Given the description of an element on the screen output the (x, y) to click on. 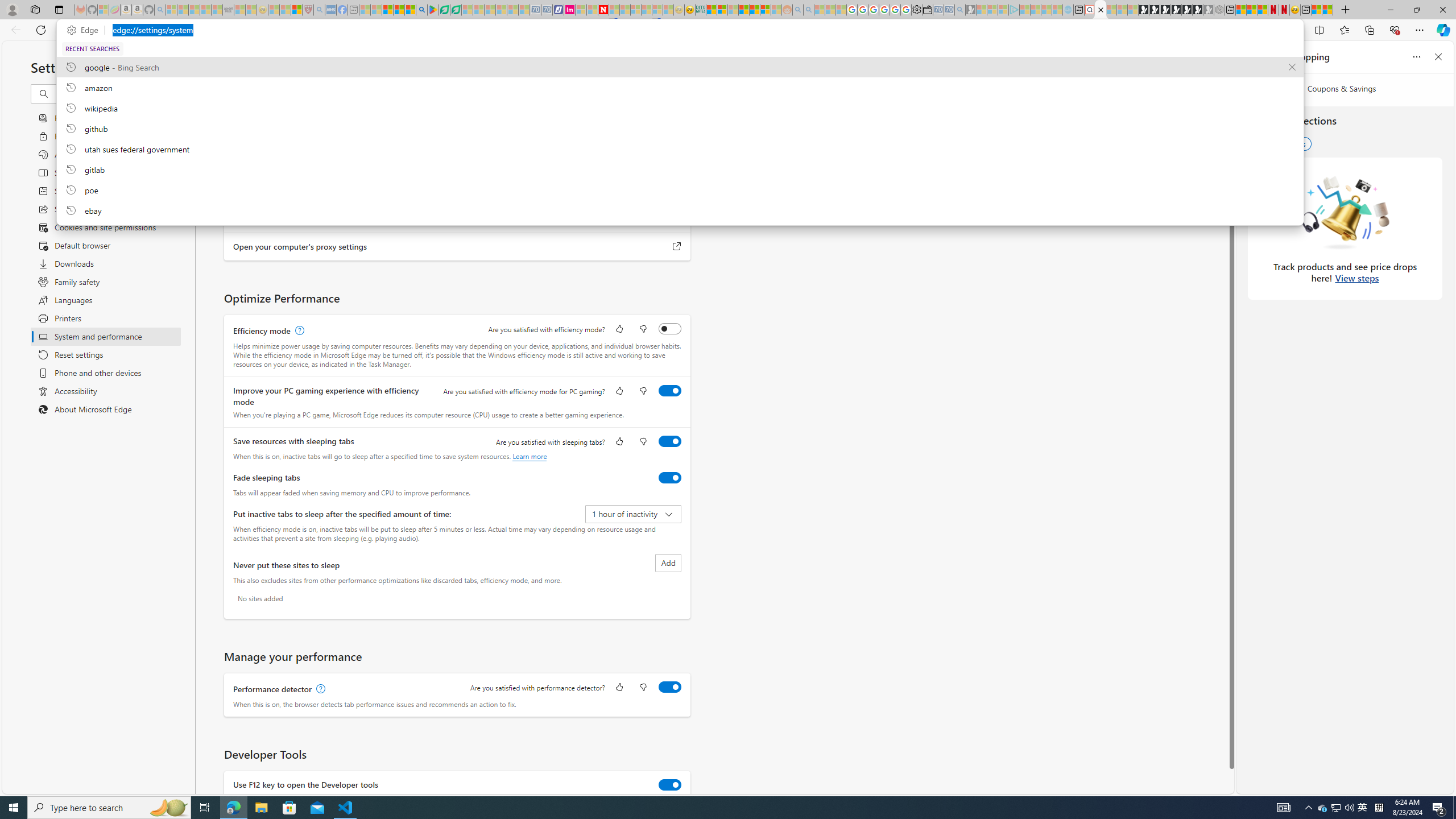
Enhance videos in Microsoft Edge (669, 196)
Bluey: Let's Play! - Apps on Google Play (433, 9)
Performance detector (669, 686)
Save resources with sleeping tabs (669, 441)
Pets - MSN (398, 9)
Fade sleeping tabs (669, 477)
